Given the description of an element on the screen output the (x, y) to click on. 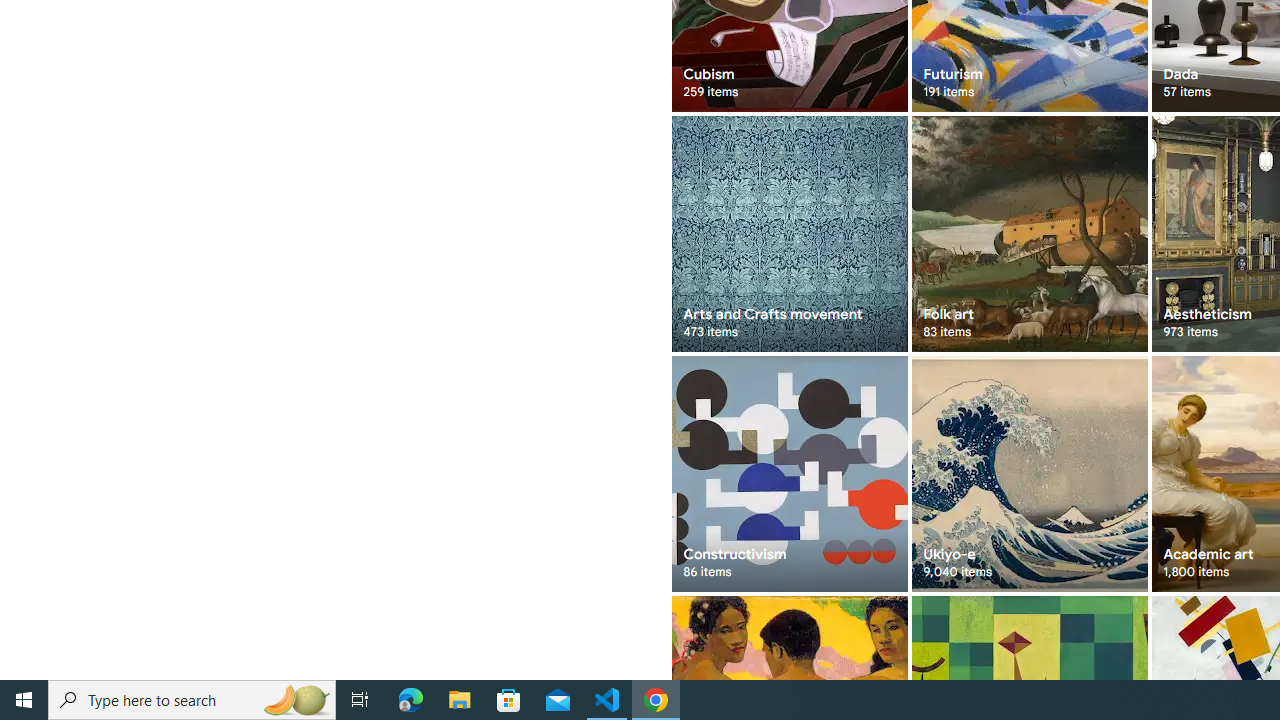
Ukiyo-e 9,040 items (1029, 473)
Folk art 83 items (1029, 233)
Arts and Crafts movement 473 items (788, 233)
Constructivism 86 items (788, 473)
